Given the description of an element on the screen output the (x, y) to click on. 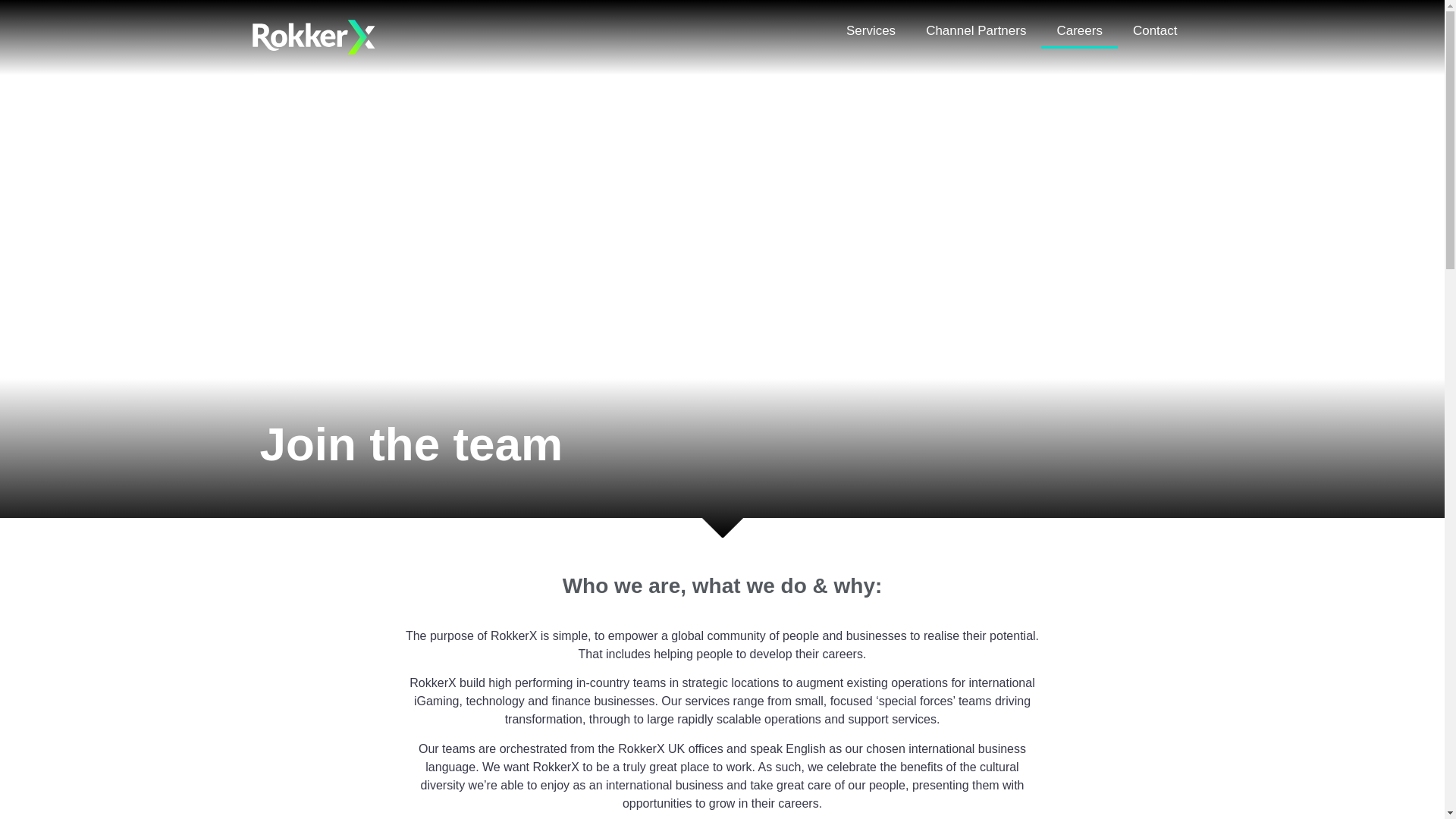
Channel Partners (976, 30)
Services (871, 30)
Careers (1078, 30)
Contact (1155, 30)
